Given the description of an element on the screen output the (x, y) to click on. 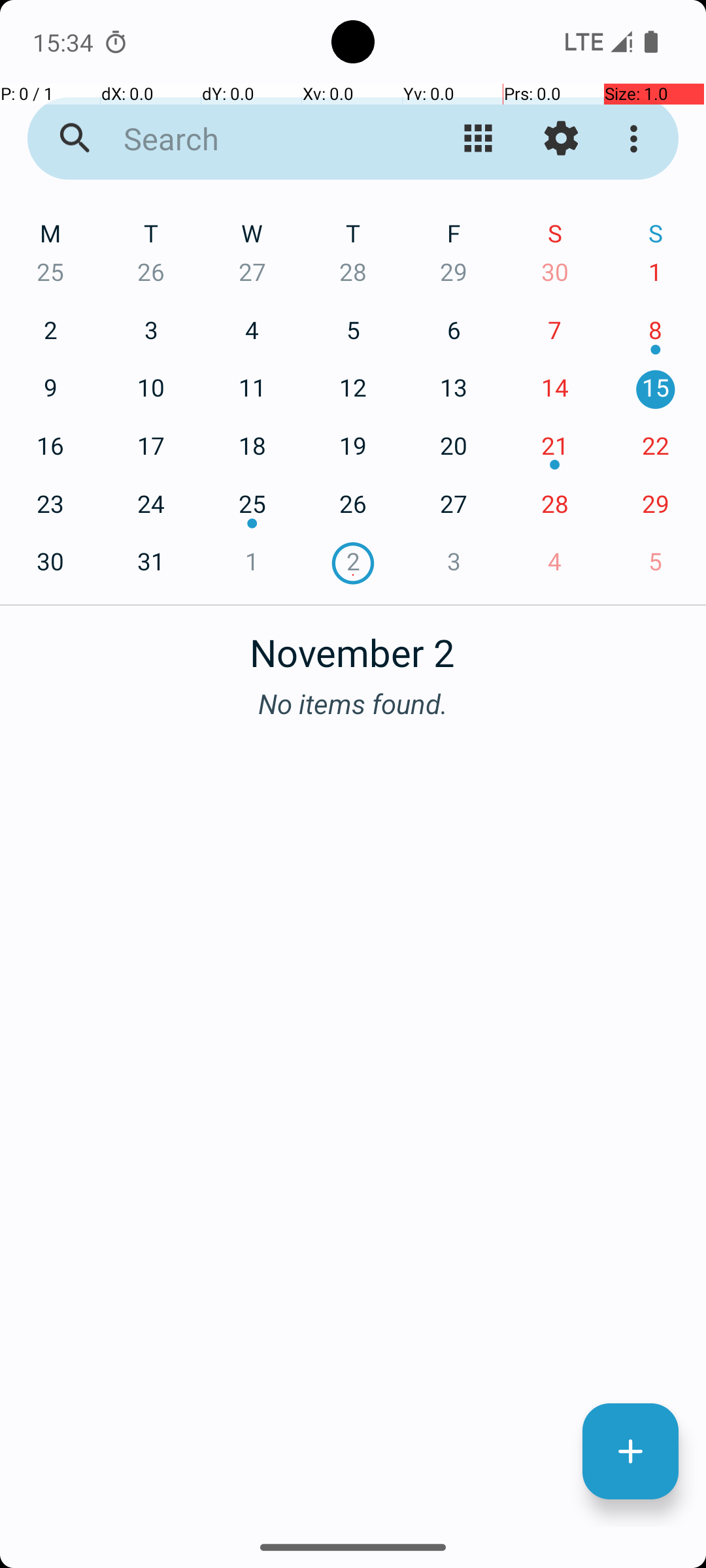
November 2 Element type: android.widget.TextView (352, 644)
